Given the description of an element on the screen output the (x, y) to click on. 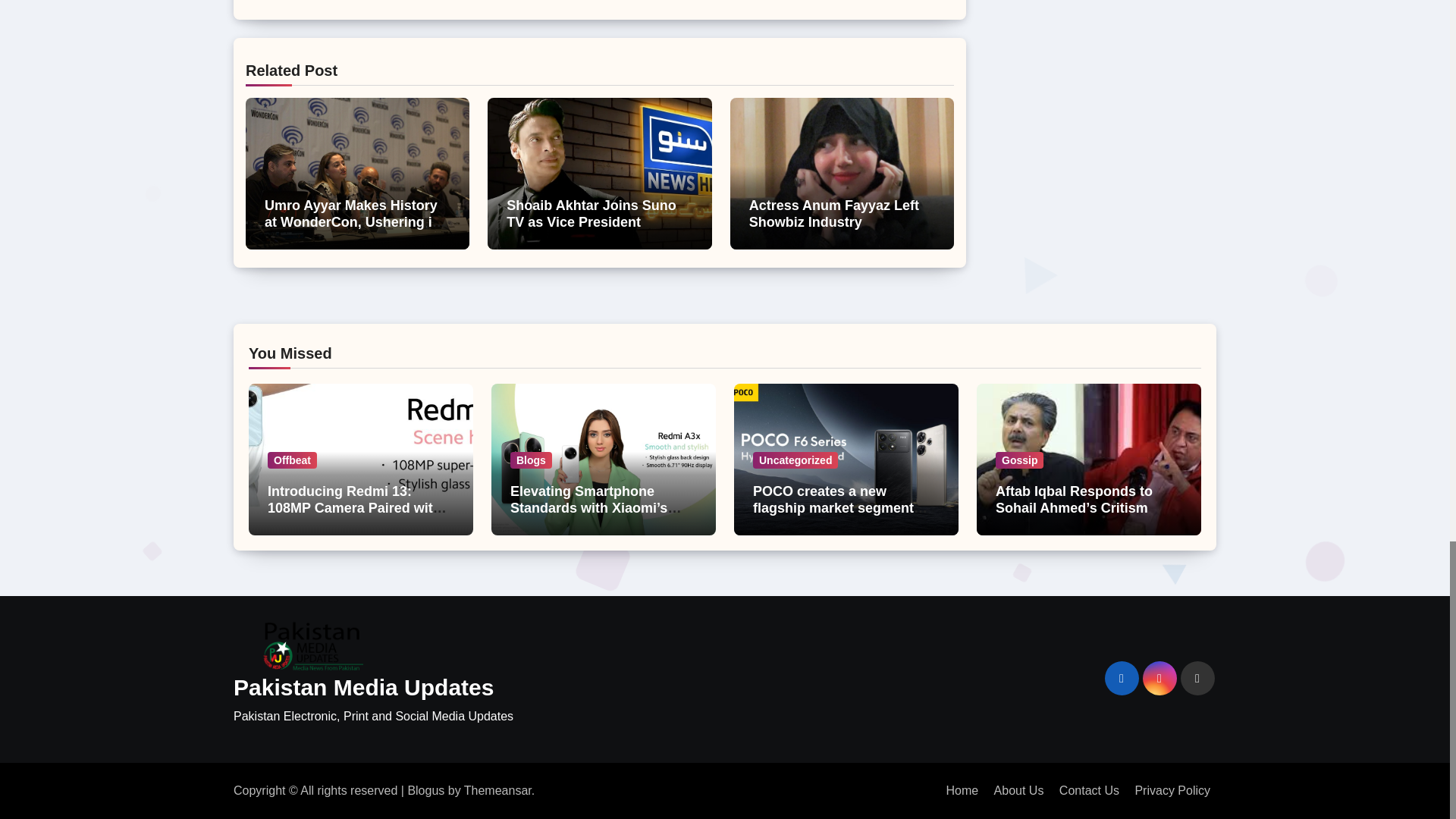
Shoaib Akhtar Joins Suno TV as Vice President (590, 214)
Actress Anum Fayyaz Left Showbiz Industry (833, 214)
Permalink to: Shoaib Akhtar Joins Suno TV as Vice President (590, 214)
Permalink to: Actress Anum Fayyaz Left Showbiz Industry (833, 214)
